Given the description of an element on the screen output the (x, y) to click on. 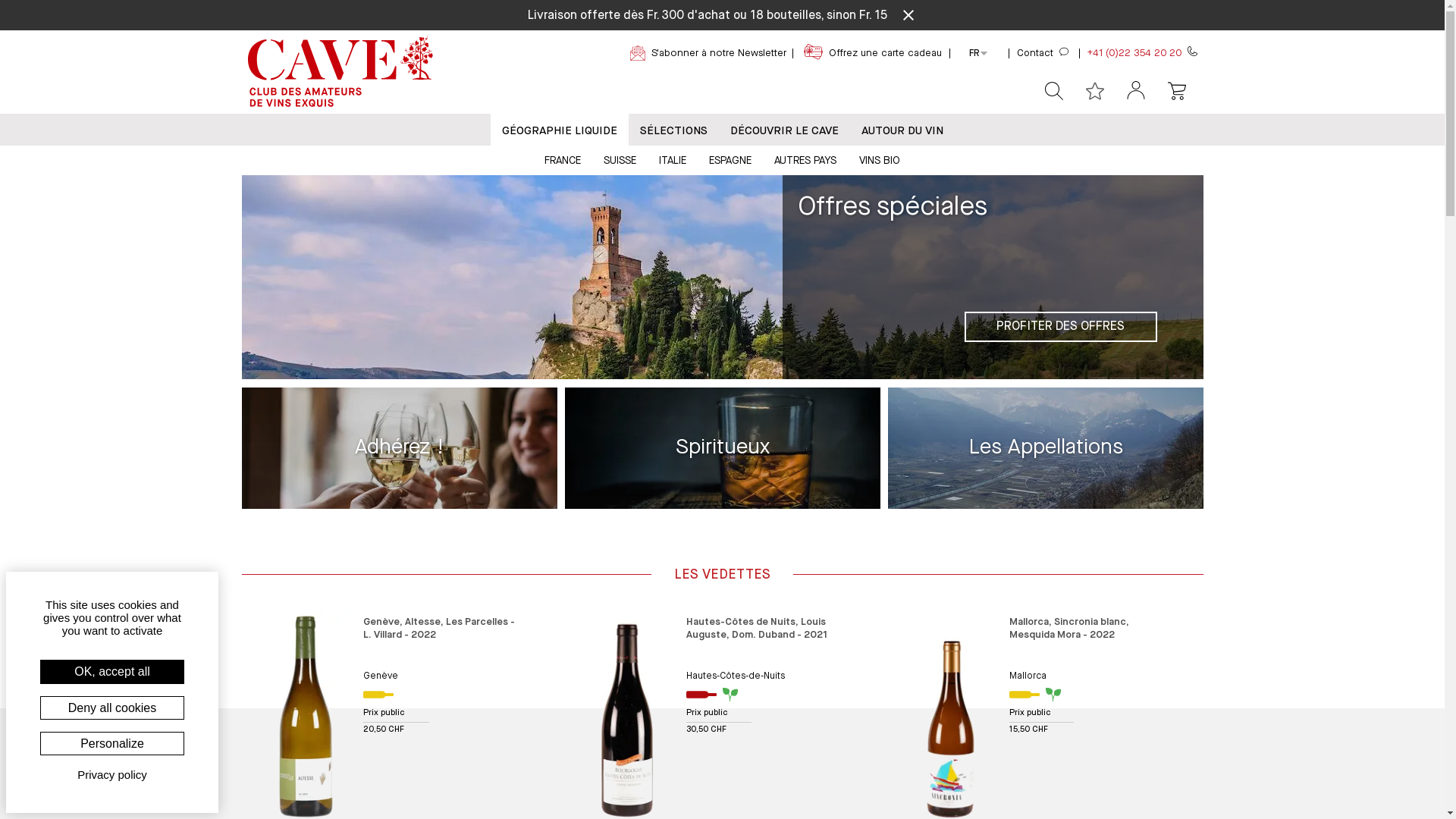
SUISSE Element type: text (619, 159)
Offrez une carte cadeau Element type: text (880, 52)
AUTOUR DU VIN Element type: text (902, 130)
FR Element type: text (974, 53)
Vin bio Element type: hover (733, 694)
Spiritueux Element type: text (1044, 447)
OK, accept all Element type: text (112, 671)
ESPAGNE Element type: text (729, 159)
Personalize Element type: text (112, 743)
PLUS D'INFOS Element type: text (1144, 326)
Deny all cookies Element type: text (112, 707)
ITALIE Element type: text (672, 159)
Privacy policy Element type: text (112, 774)
Vin blanc Element type: hover (378, 694)
VINS BIO Element type: text (879, 159)
Vin bio Element type: hover (1056, 694)
Vin rouge Element type: hover (701, 694)
Mallorca, Sincronia blanc, Mesquida Mora - 2022
Mallorca Element type: text (1089, 646)
AUTRES PAYS Element type: text (804, 159)
FRANCE Element type: text (562, 159)
Vin blanc Element type: hover (1024, 694)
Contact +41 (0)22 354 20 20 Element type: text (1091, 53)
